Given the description of an element on the screen output the (x, y) to click on. 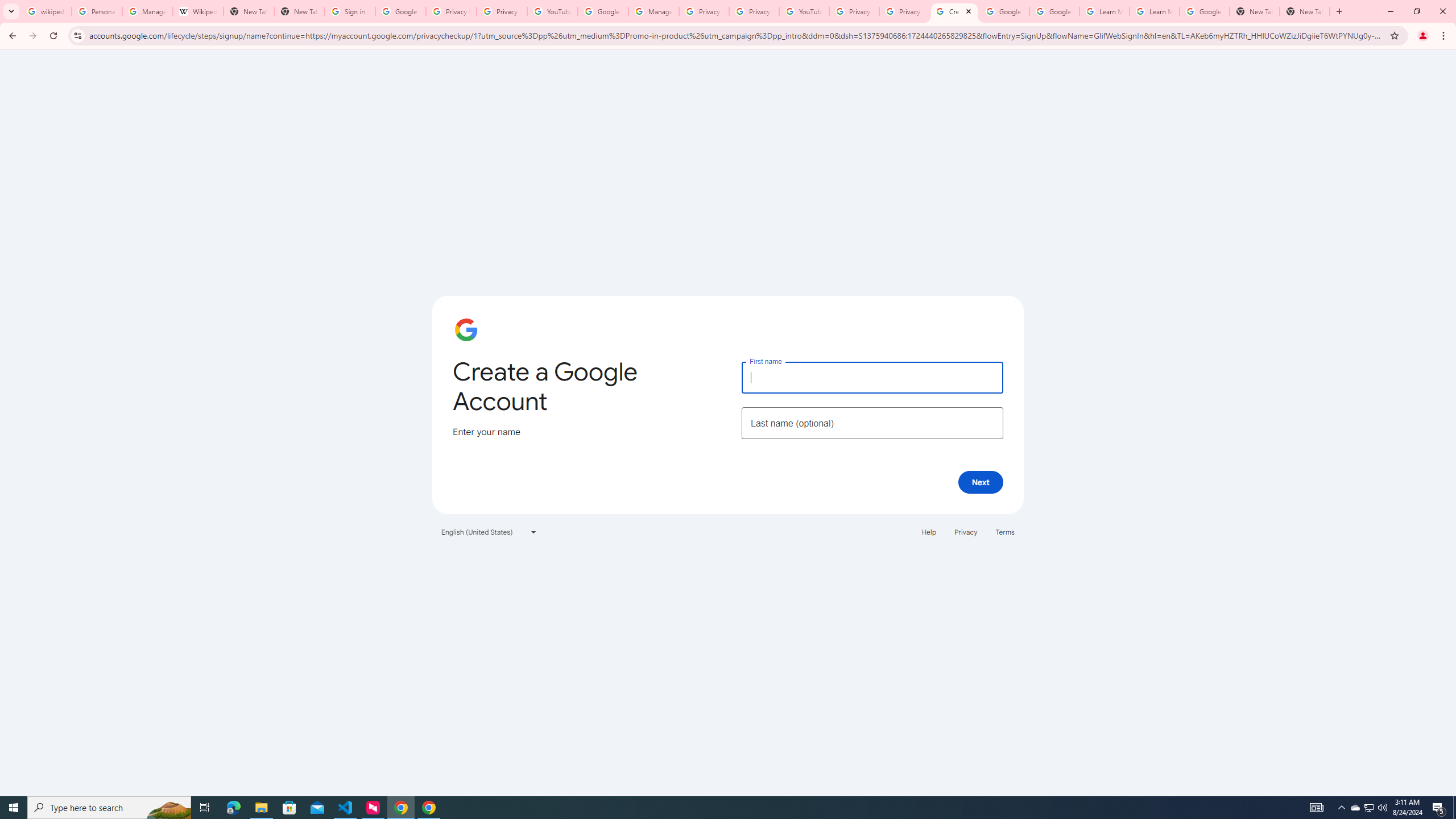
Google Drive: Sign-in (399, 11)
YouTube (552, 11)
Privacy (965, 531)
New Tab (1304, 11)
New Tab (299, 11)
Wikipedia:Edit requests - Wikipedia (197, 11)
Manage your Location History - Google Search Help (146, 11)
Google Account Help (1004, 11)
